Given the description of an element on the screen output the (x, y) to click on. 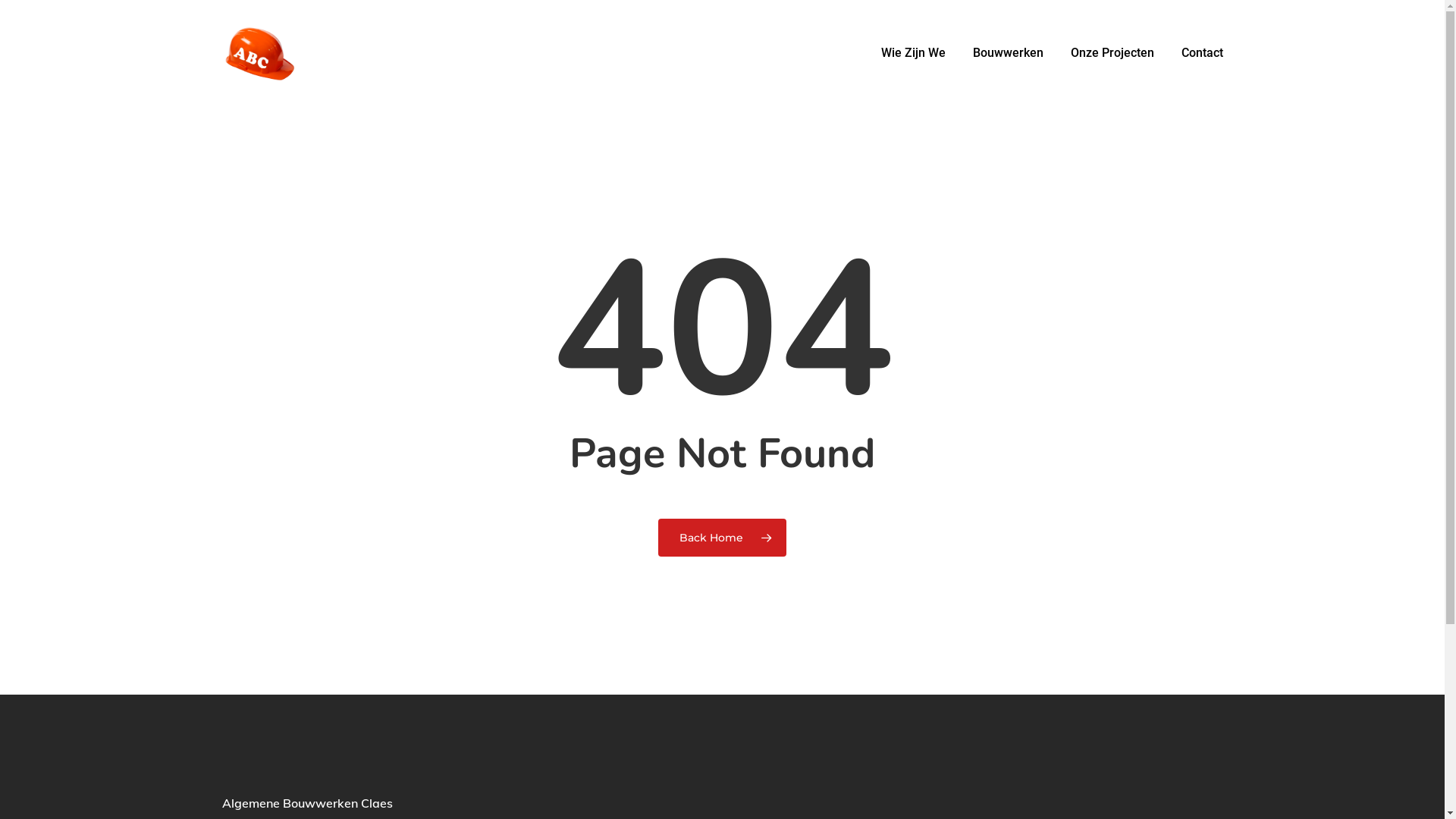
Onze Projecten Element type: text (1112, 52)
Back Home Element type: text (722, 537)
Bouwwerken Element type: text (1007, 52)
Contact Element type: text (1195, 52)
Wie Zijn We Element type: text (913, 52)
